Given the description of an element on the screen output the (x, y) to click on. 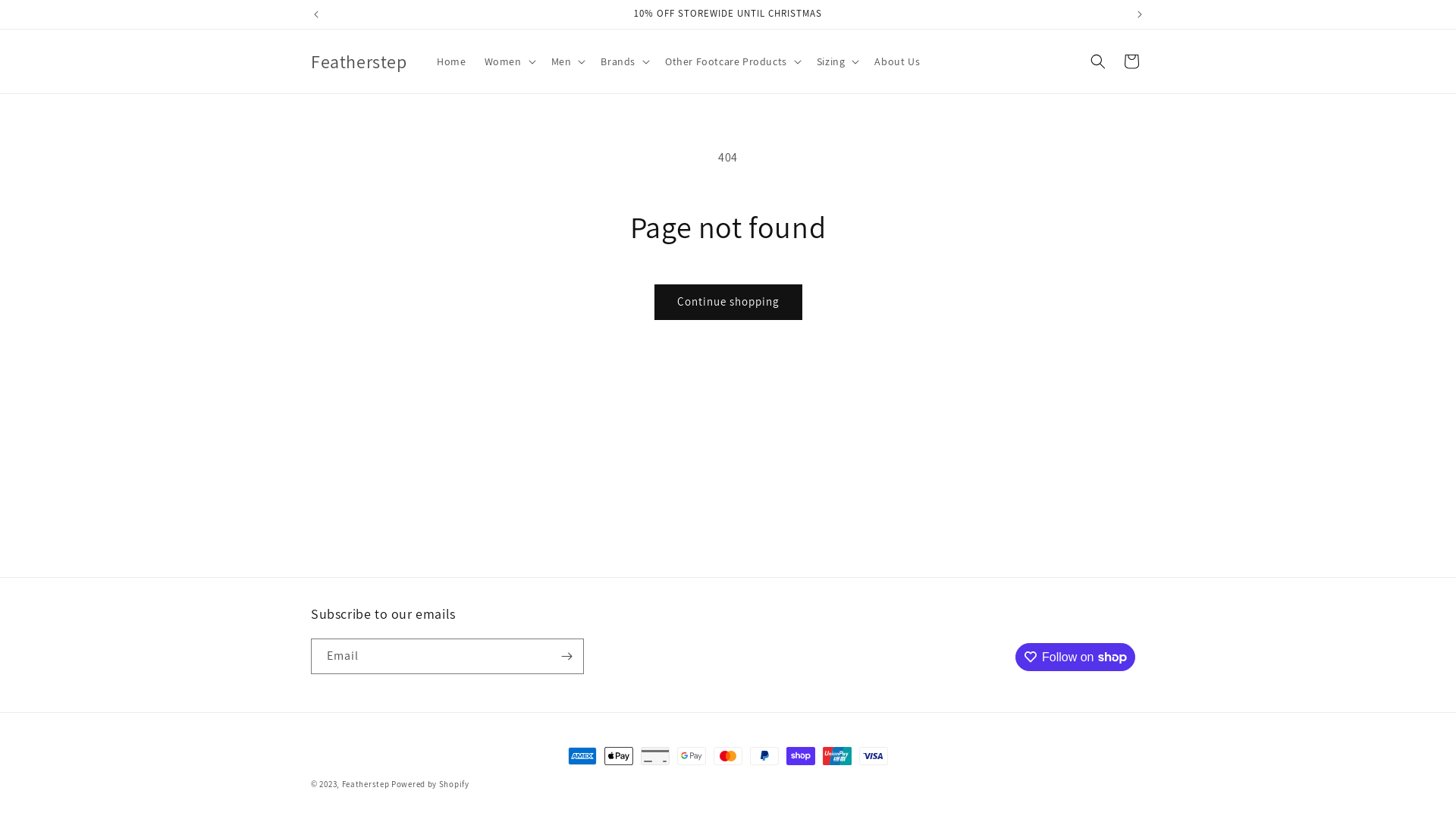
Home Element type: text (450, 61)
About Us Element type: text (896, 61)
Featherstep Element type: text (365, 783)
Continue shopping Element type: text (727, 302)
Featherstep Element type: text (358, 61)
Cart Element type: text (1131, 61)
Powered by Shopify Element type: text (430, 783)
